Given the description of an element on the screen output the (x, y) to click on. 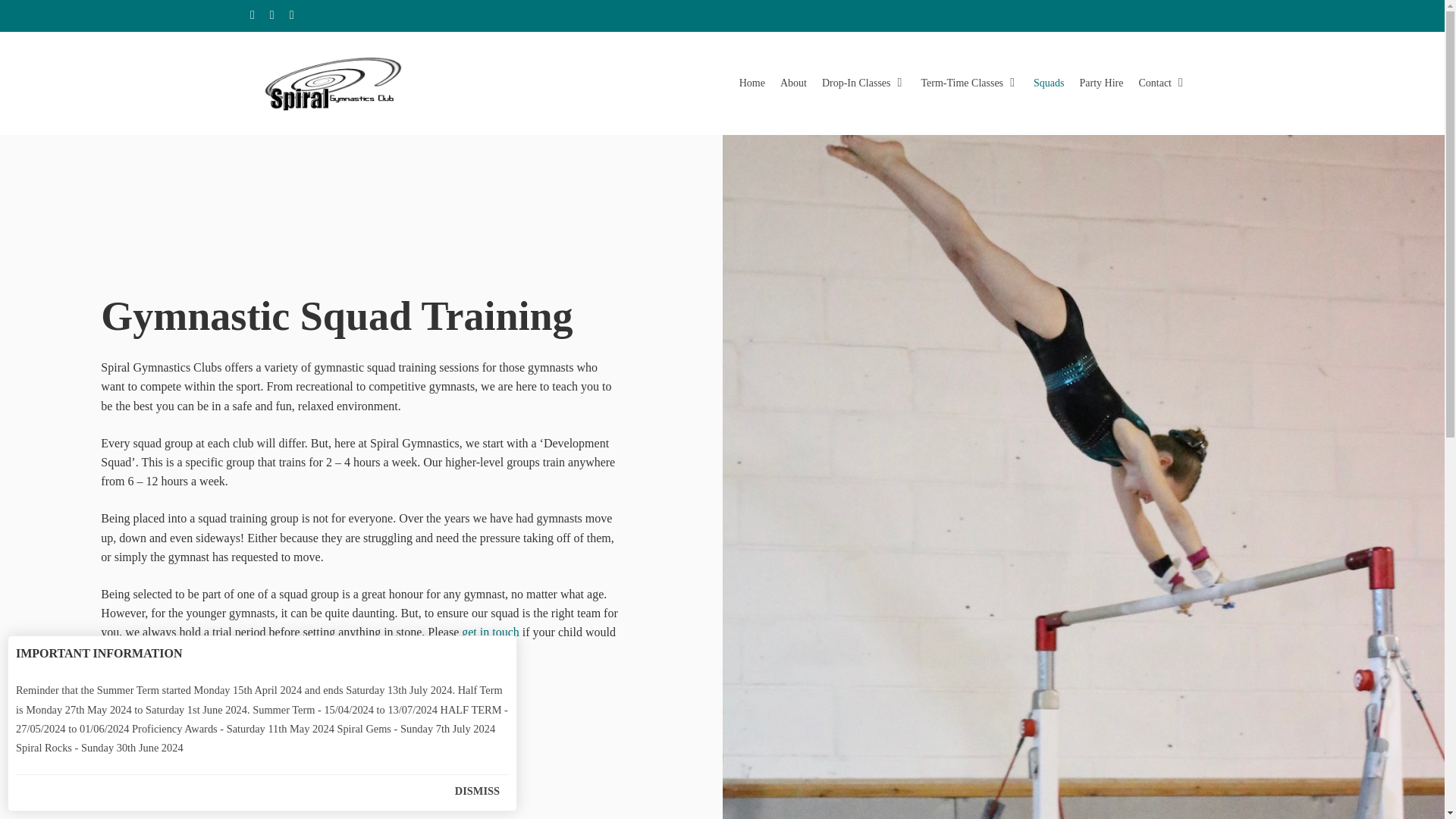
Contact (1162, 83)
Party Hire (1101, 83)
About (793, 83)
Squads (1048, 83)
get in touch (490, 631)
Home (752, 83)
Term-Time Classes (969, 83)
Drop-In Classes (863, 83)
